Given the description of an element on the screen output the (x, y) to click on. 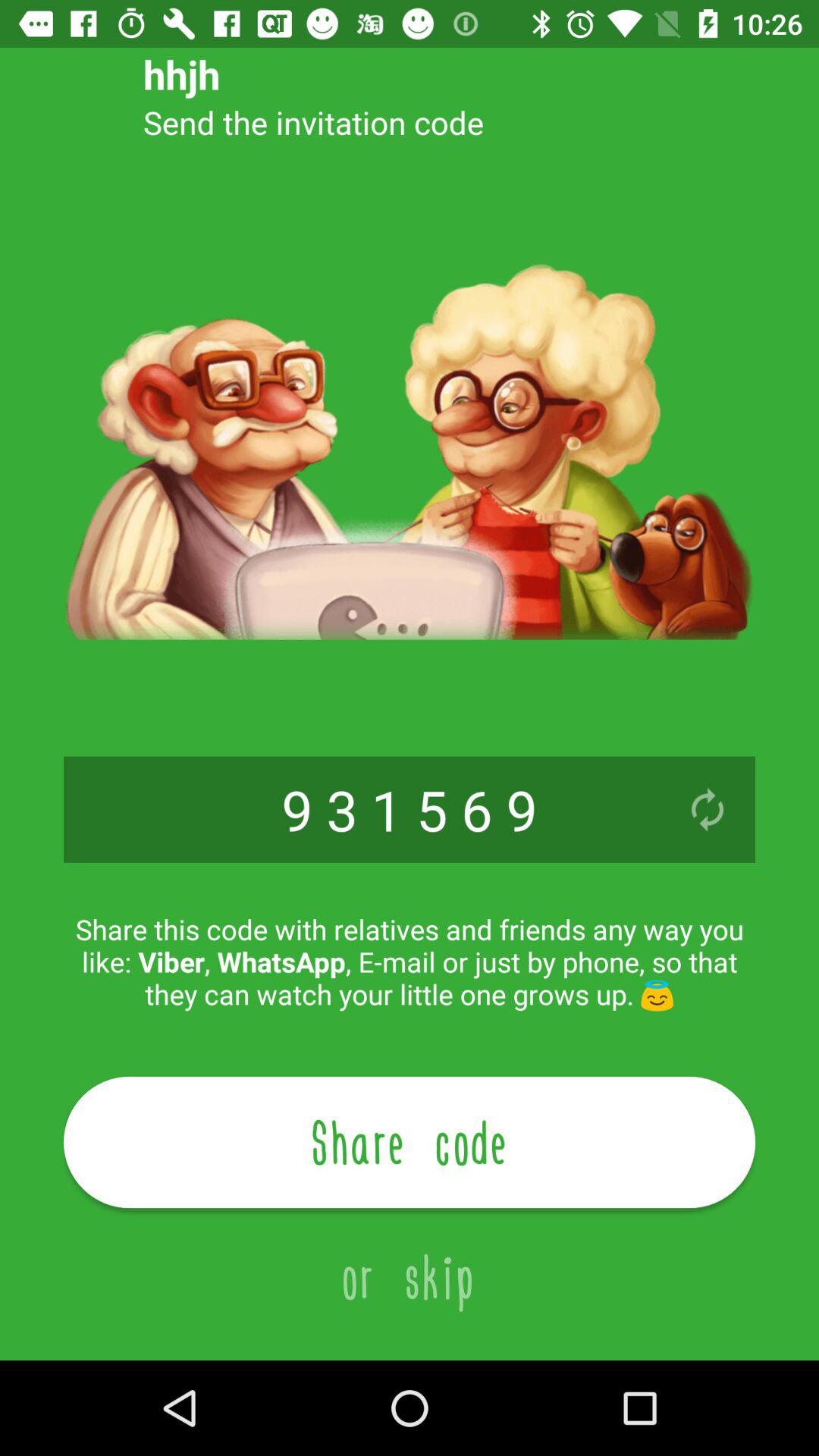
choose the icon on the right (707, 809)
